Given the description of an element on the screen output the (x, y) to click on. 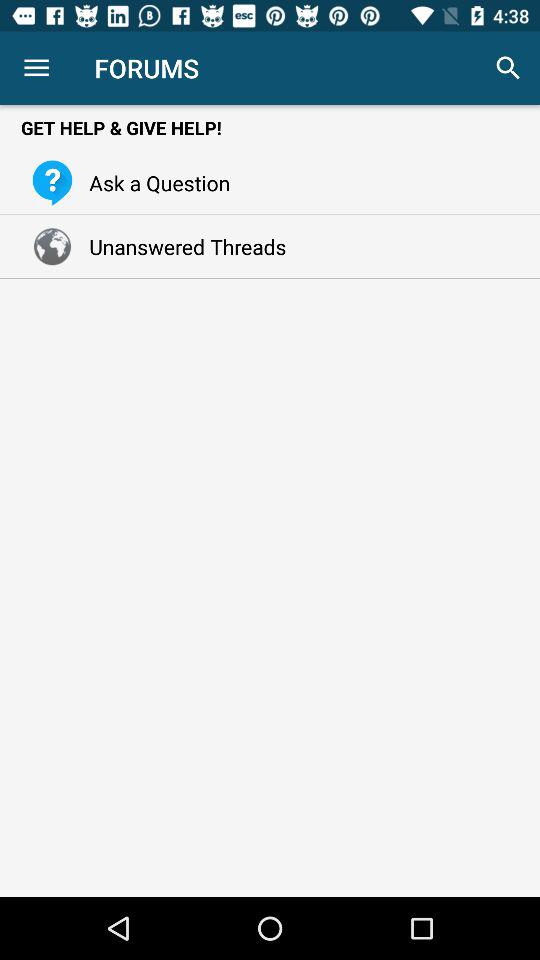
open get help give icon (270, 127)
